Given the description of an element on the screen output the (x, y) to click on. 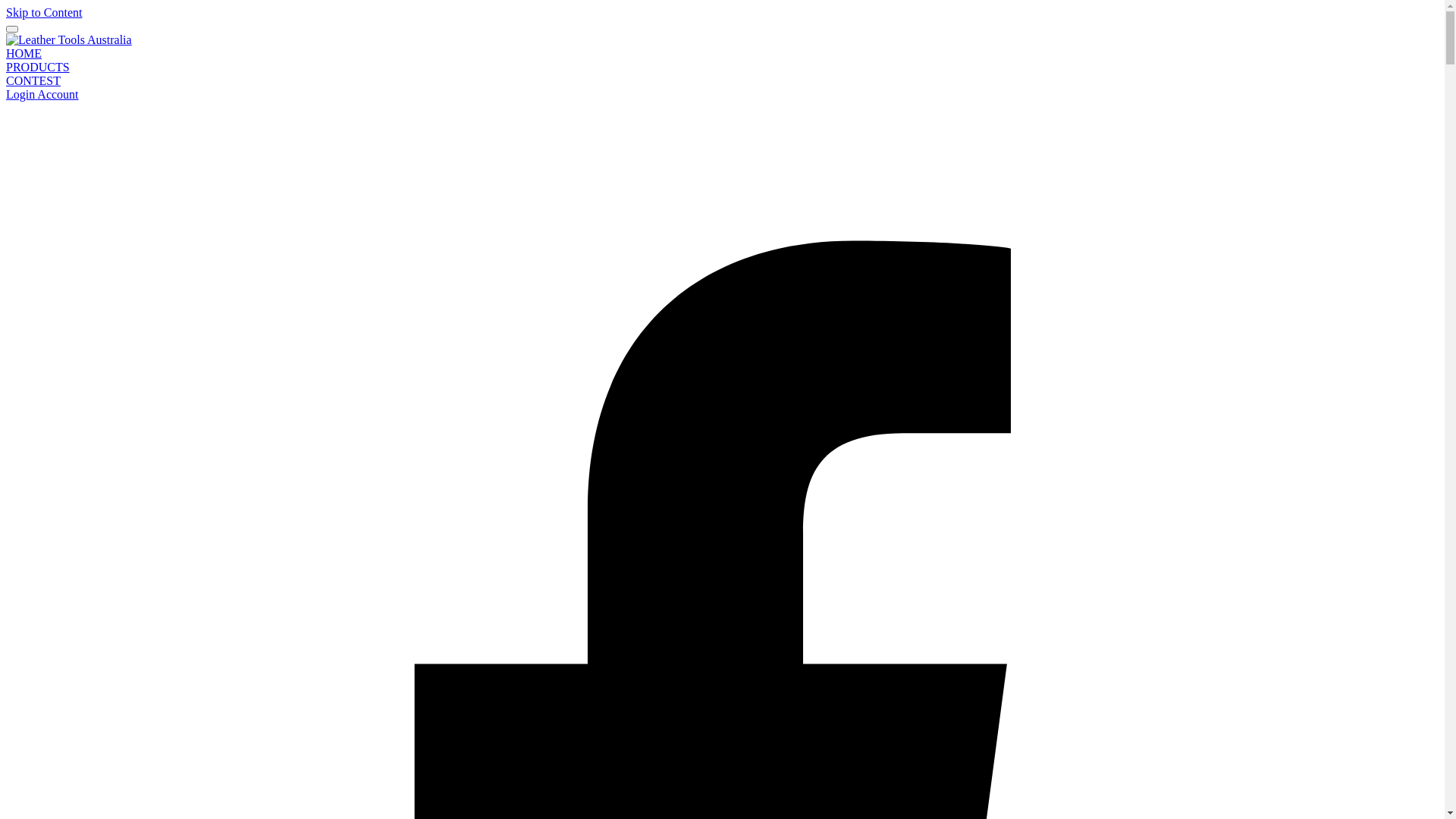
PRODUCTS Element type: text (37, 66)
HOME Element type: text (23, 53)
Skip to Content Element type: text (43, 12)
Login Account Element type: text (42, 93)
CONTEST Element type: text (33, 80)
